Given the description of an element on the screen output the (x, y) to click on. 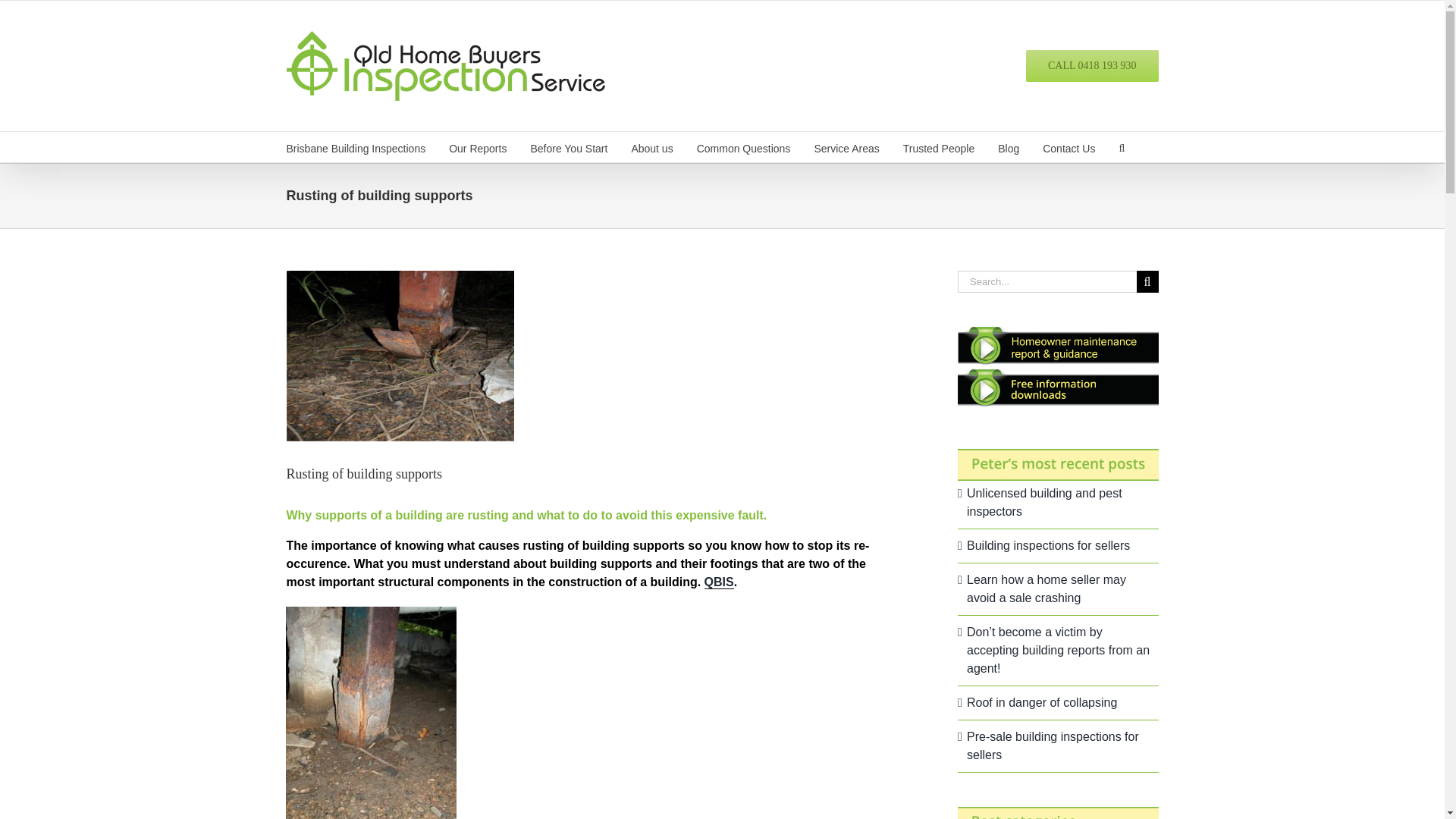
CALL 0418 193 930 (1092, 65)
Brisbane Building Inspections (356, 146)
Our Reports (477, 146)
Contact Us (1068, 146)
Service Areas (846, 146)
Before You Start (568, 146)
Trusted People (938, 146)
About us (651, 146)
Common Questions (743, 146)
